Given the description of an element on the screen output the (x, y) to click on. 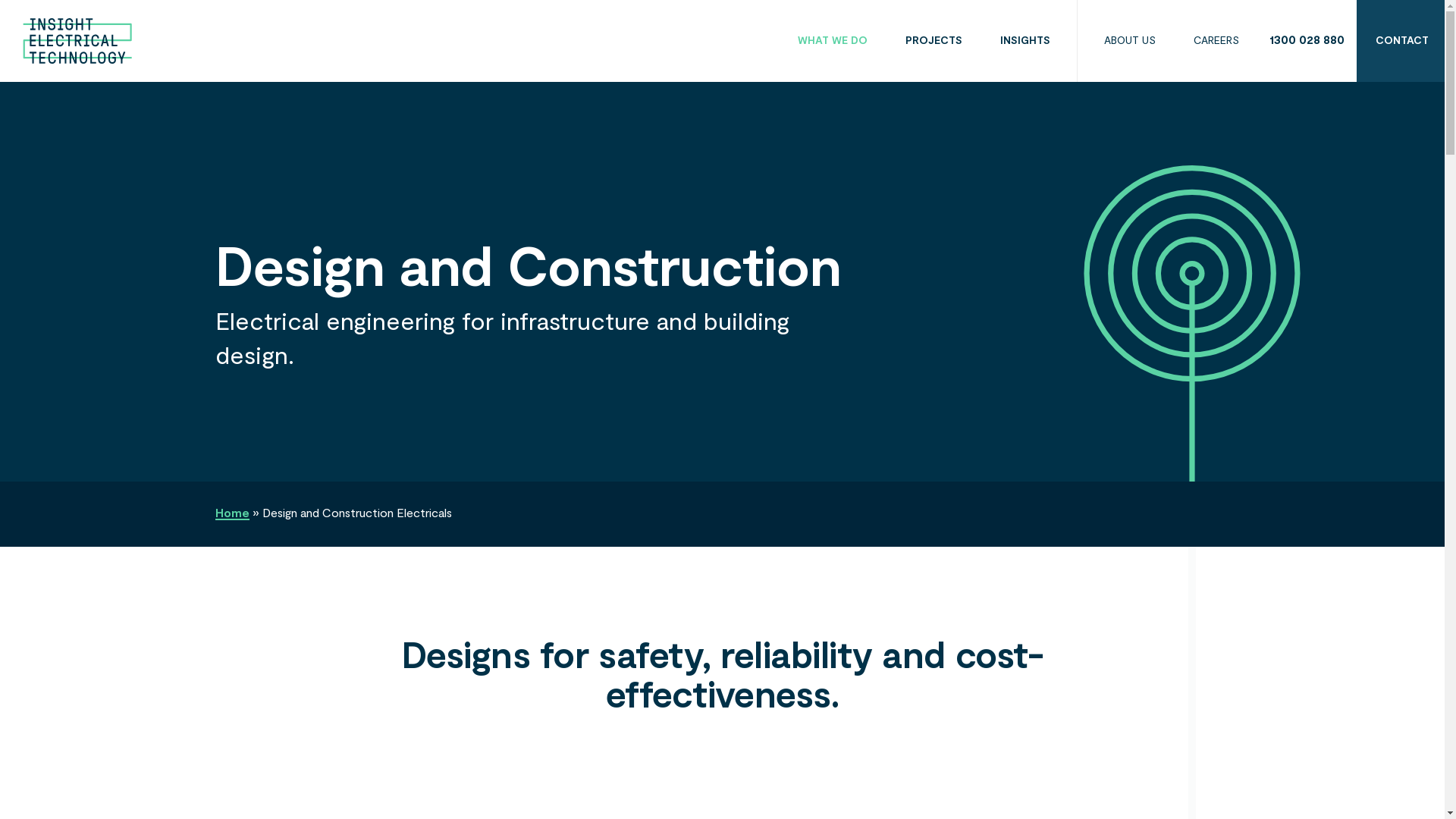
INSIGHTS Element type: text (1025, 40)
CONTACT Element type: text (1401, 40)
ABOUT US Element type: text (1129, 40)
CAREERS Element type: text (1216, 40)
Home Element type: text (232, 514)
1300 028 880 Element type: text (1308, 40)
WHAT WE DO Element type: text (832, 40)
PROJECTS Element type: text (933, 40)
